Given the description of an element on the screen output the (x, y) to click on. 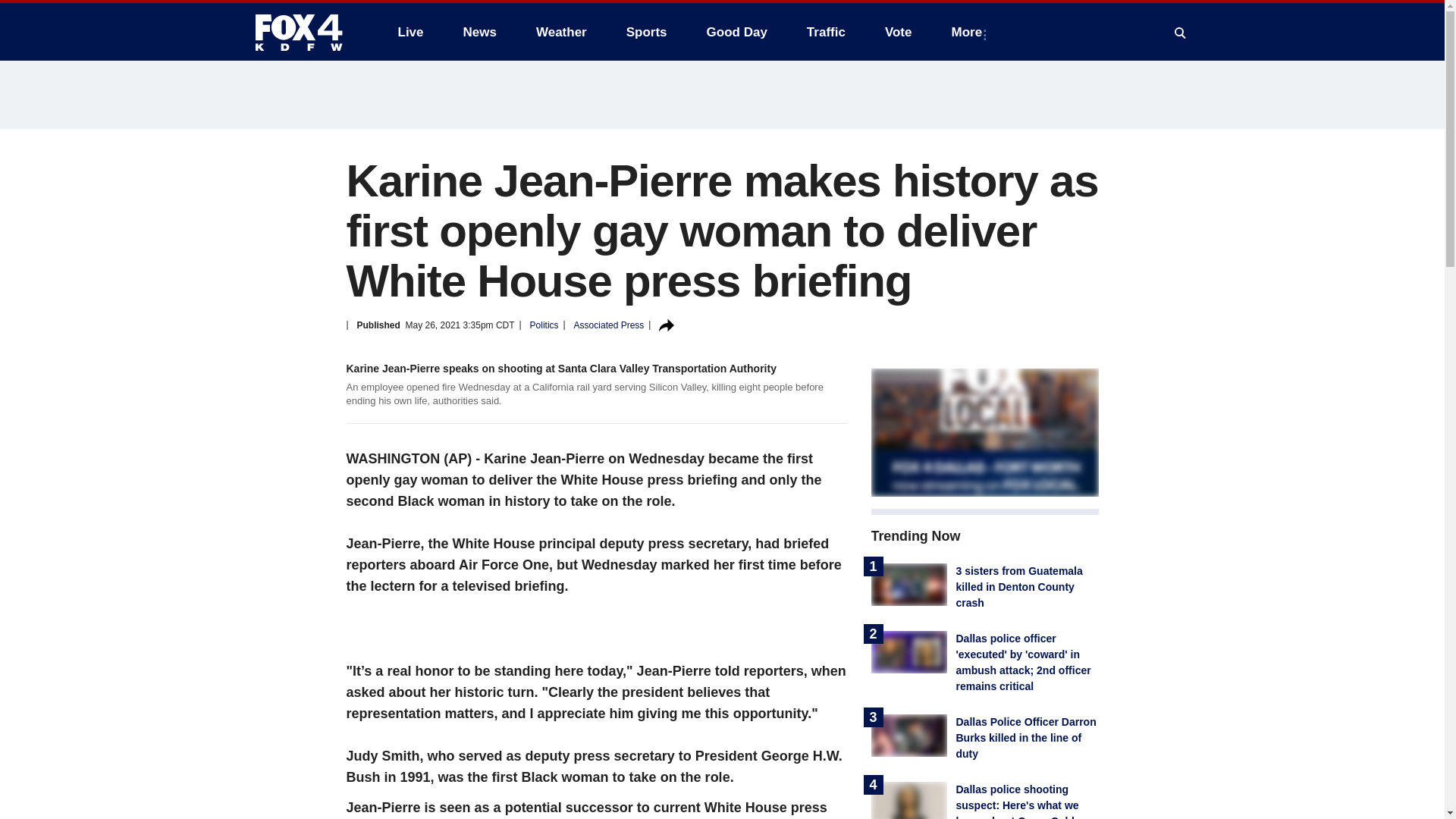
News (479, 32)
Traffic (825, 32)
Good Day (736, 32)
Weather (561, 32)
Sports (646, 32)
Vote (898, 32)
More (969, 32)
Live (410, 32)
